Given the description of an element on the screen output the (x, y) to click on. 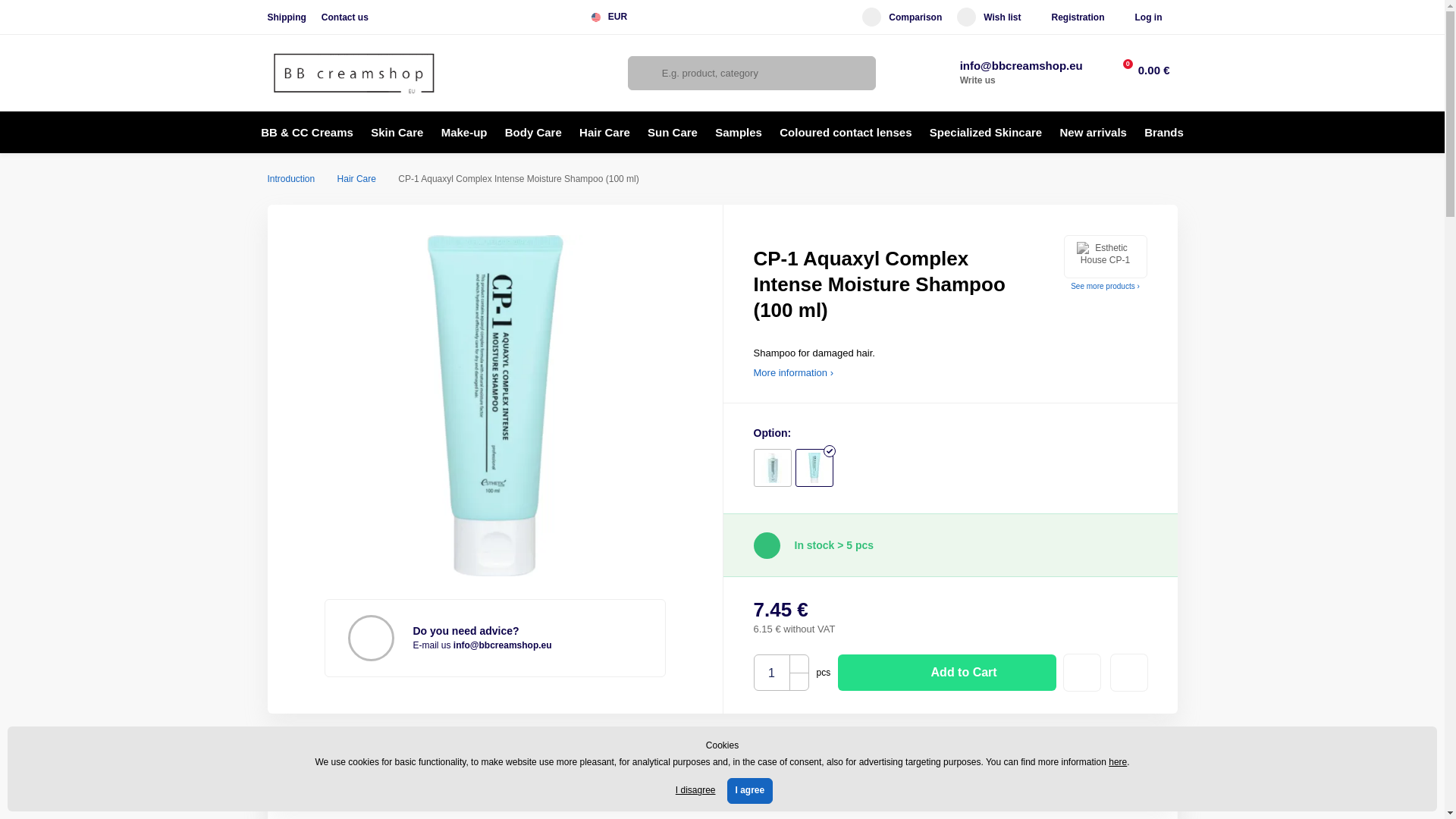
Contact us (344, 17)
Add to Favourites (1082, 672)
Registration (1077, 16)
1 (771, 673)
EUR (615, 16)
Log in (1147, 16)
Go to the home page (353, 73)
Wish list (988, 16)
Hair Care (356, 178)
Comparison (901, 16)
